Given the description of an element on the screen output the (x, y) to click on. 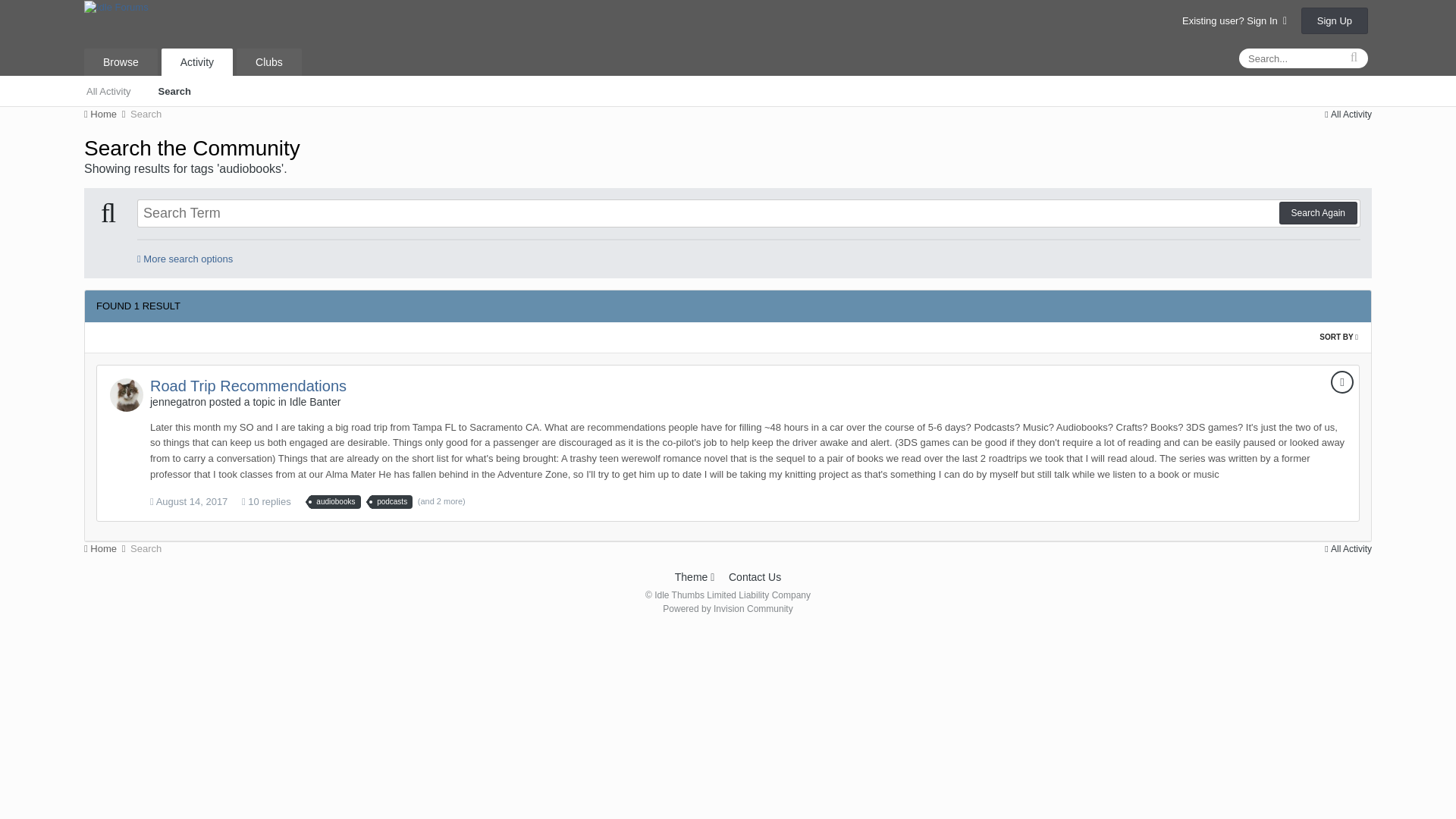
Go to jennegatron's profile (126, 394)
Home (106, 548)
All Activity (1347, 113)
Home (106, 113)
Activity (196, 62)
Existing user? Sign In   (1234, 20)
More search options (184, 258)
Sign Up (1334, 20)
Invision Community (727, 608)
Search Again (1317, 212)
Topic (1342, 382)
Find other content tagged with 'podcasts' (391, 501)
All Activity (108, 90)
Clubs (268, 62)
Home (106, 113)
